Given the description of an element on the screen output the (x, y) to click on. 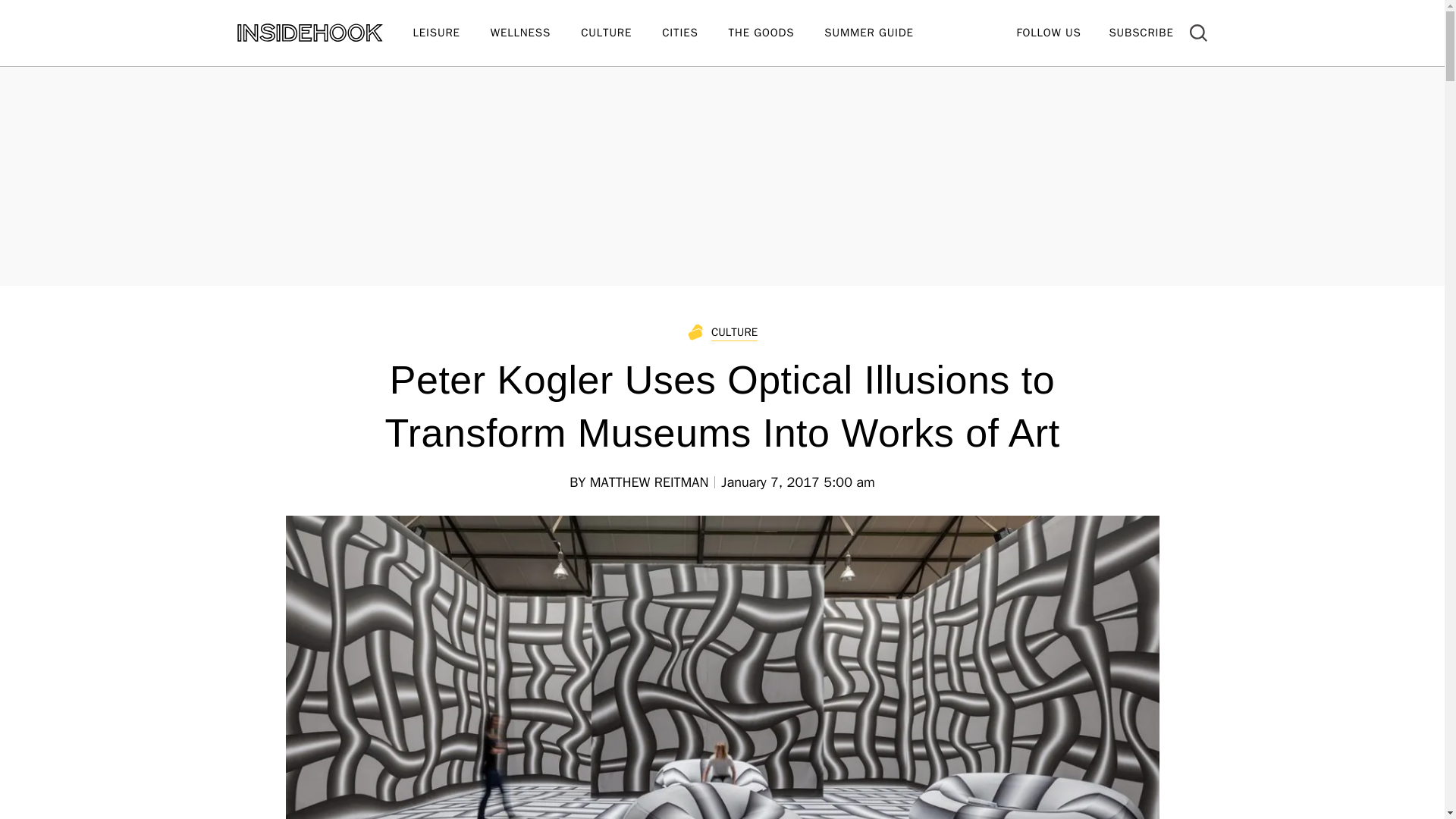
LEISURE (450, 32)
SUMMER GUIDE (883, 32)
FOLLOW US (1048, 32)
THE GOODS (777, 32)
CITIES (695, 32)
SUBSCRIBE (1140, 32)
WELLNESS (535, 32)
CULTURE (621, 32)
